Given the description of an element on the screen output the (x, y) to click on. 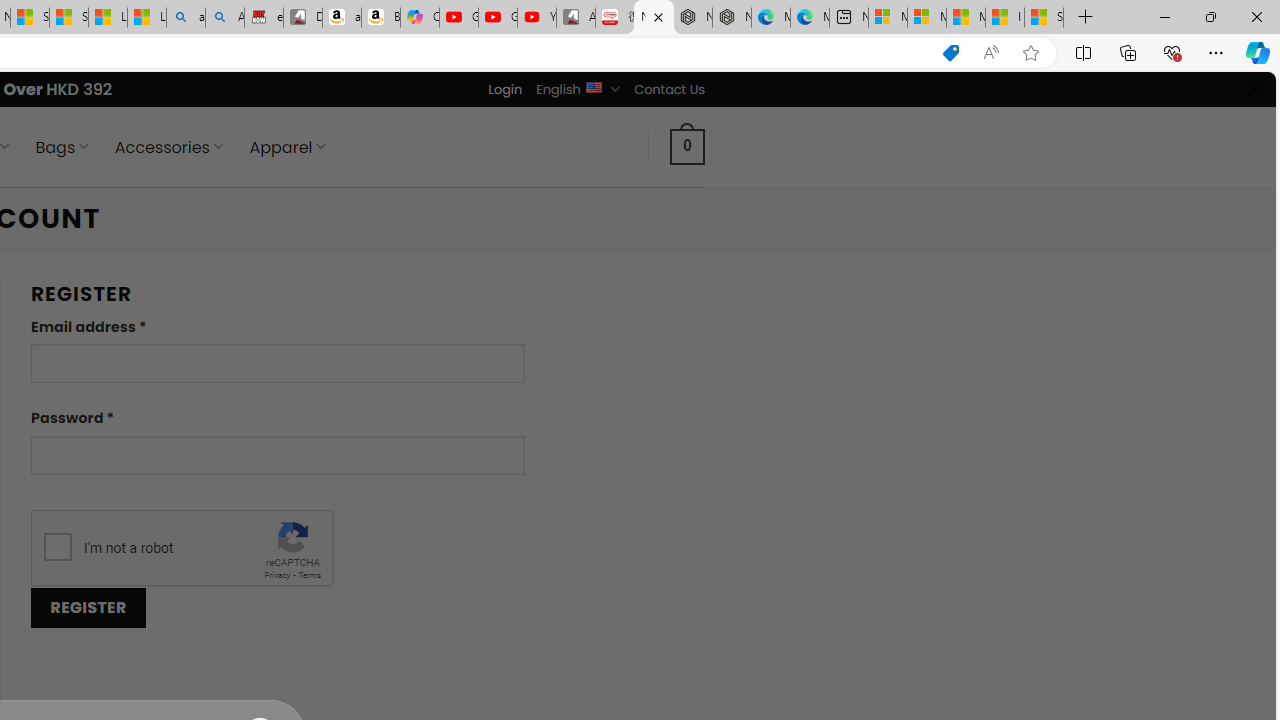
Login (505, 89)
amazon - Search (185, 17)
Amazon Echo Dot PNG - Search Images (225, 17)
Nordace - My Account (653, 17)
Gloom - YouTube (497, 17)
amazon.in/dp/B0CX59H5W7/?tag=gsmcom05-21 (341, 17)
English (592, 86)
Microsoft account | Privacy (926, 17)
Nordace - Nordace has arrived Hong Kong (732, 17)
